Given the description of an element on the screen output the (x, y) to click on. 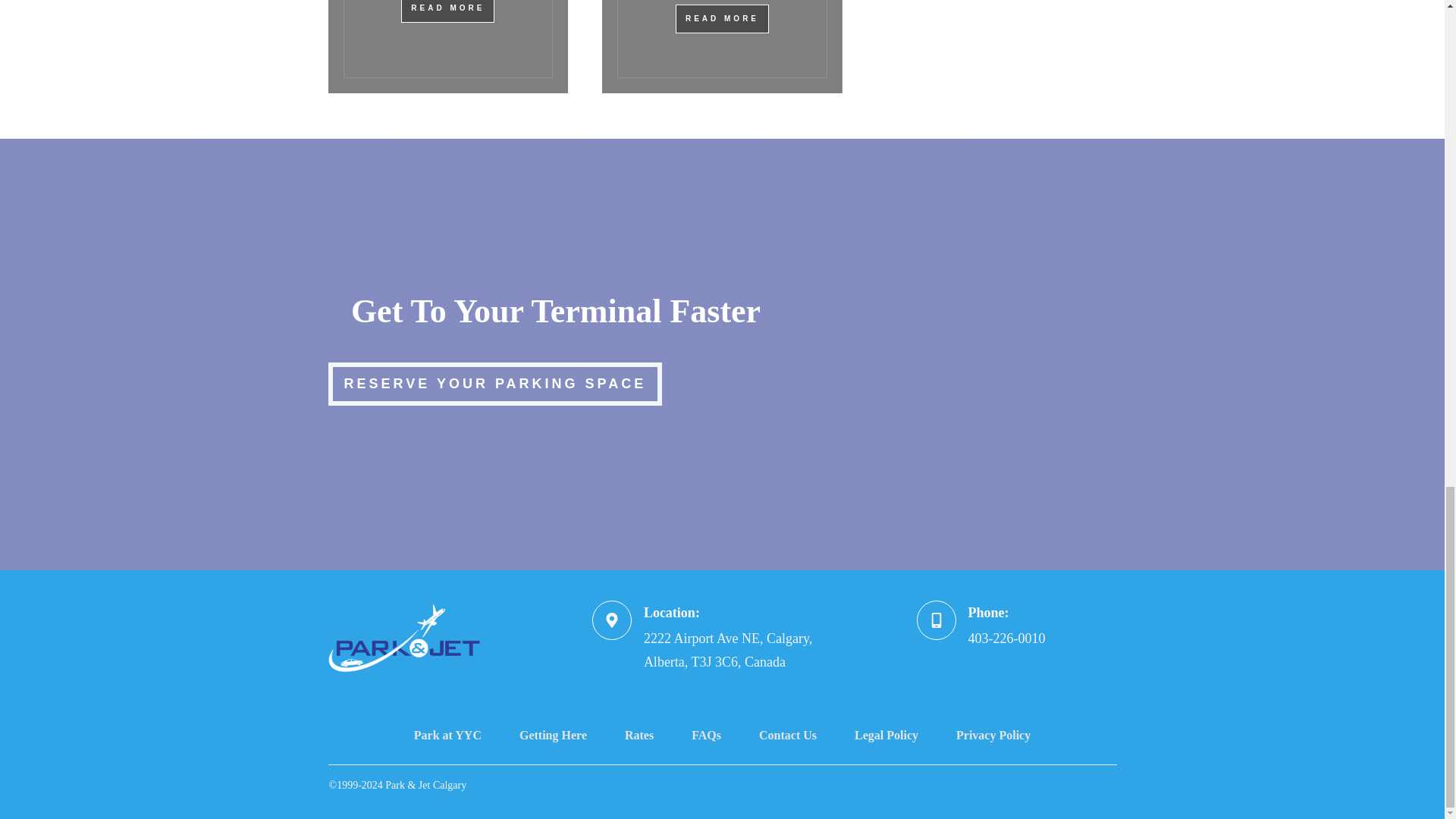
FAQs (705, 735)
READ MORE (448, 11)
READ MORE (721, 18)
RESERVE YOUR PARKING SPACE (494, 383)
Park at YYC (447, 735)
Contact Us (787, 735)
Privacy Policy (993, 735)
Rates (638, 735)
Getting Here (552, 735)
Legal Policy (886, 735)
